Given the description of an element on the screen output the (x, y) to click on. 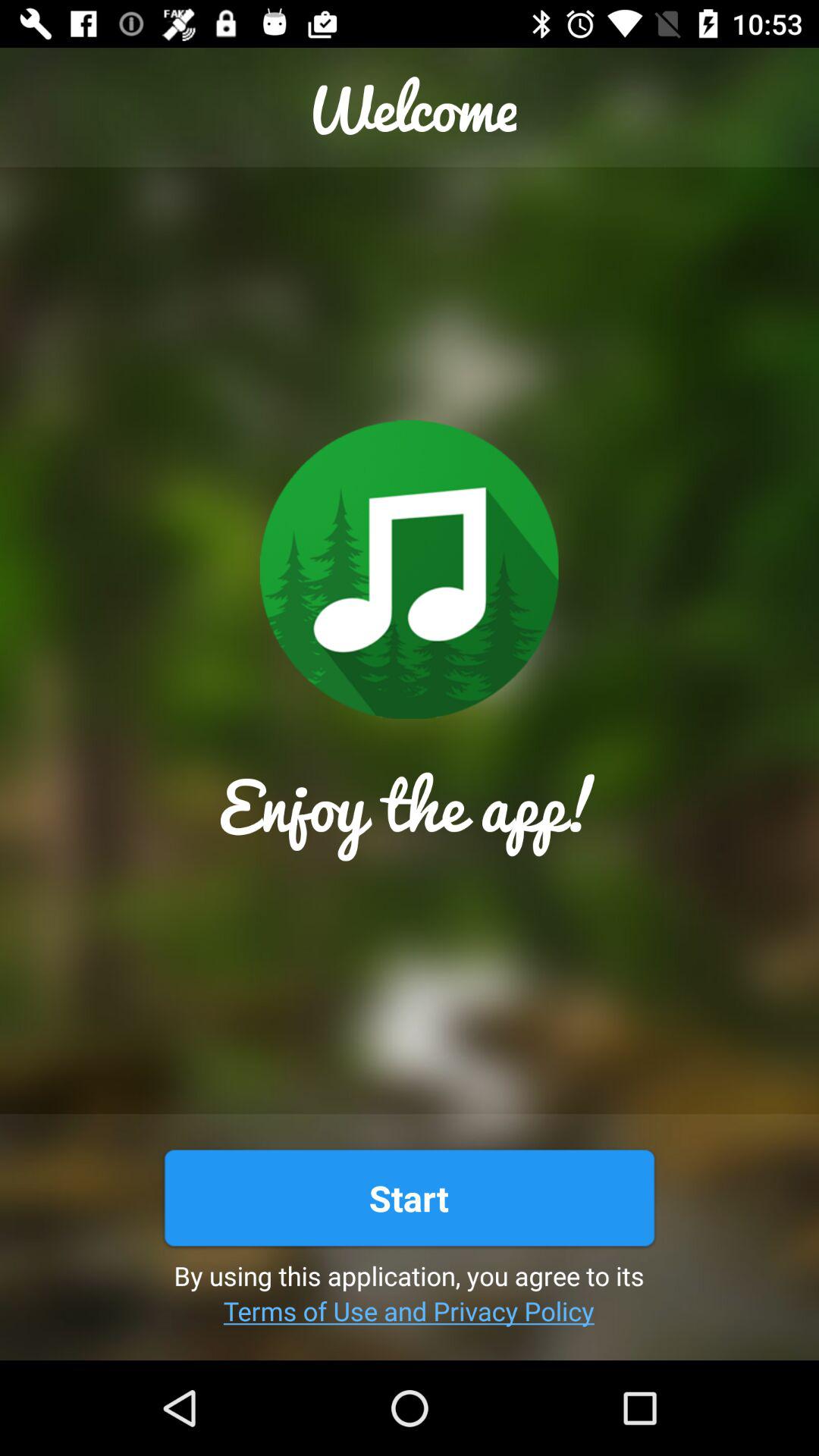
select icon above the by using this (409, 1198)
